Given the description of an element on the screen output the (x, y) to click on. 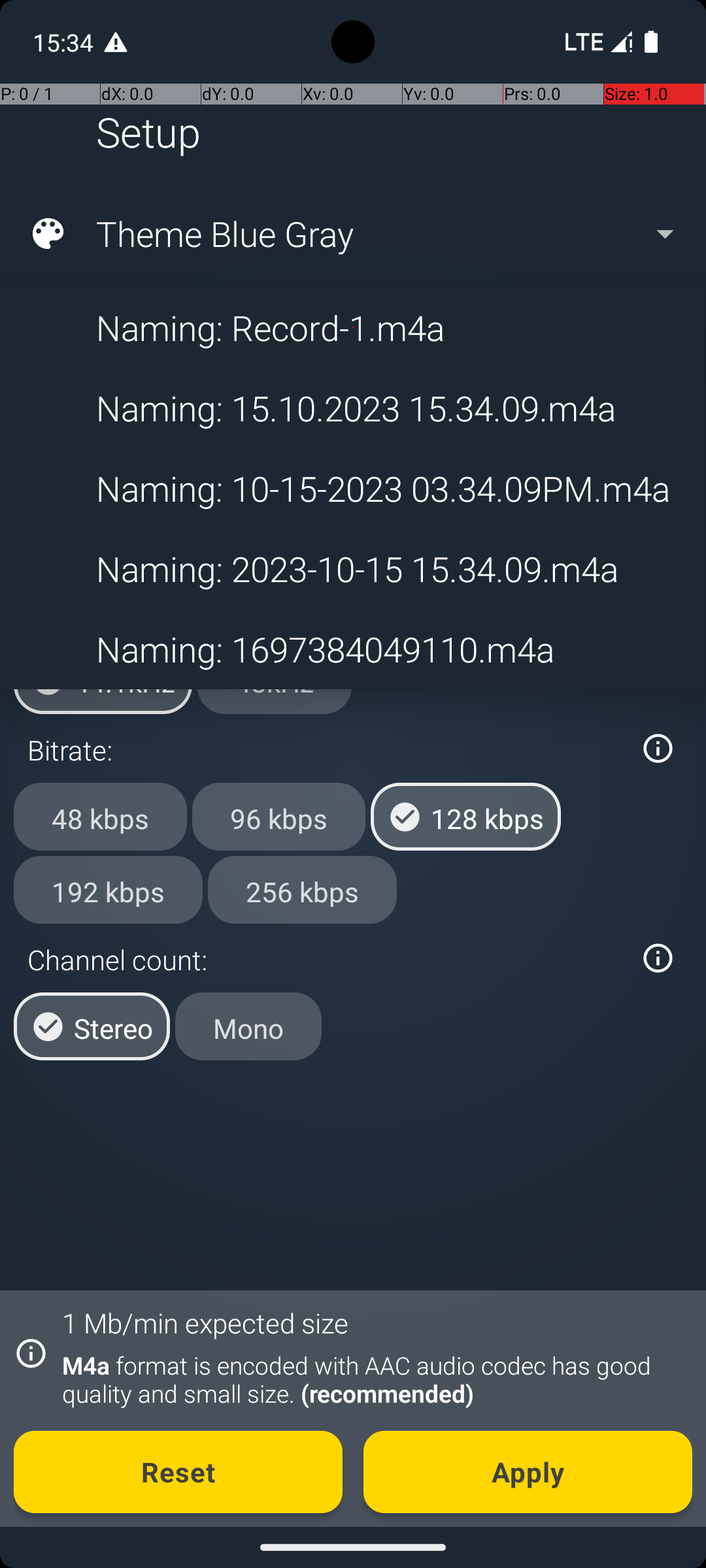
Naming: Record-1.m4a Element type: android.widget.TextView (352, 327)
Naming: 15.10.2023 15.34.09.m4a Element type: android.widget.TextView (352, 407)
Naming: 10-15-2023 03.34.09PM.m4a Element type: android.widget.TextView (352, 488)
Naming: 2023-10-15 15.34.09.m4a Element type: android.widget.TextView (352, 568)
Naming: 1697384049110.m4a Element type: android.widget.TextView (352, 648)
15:34 Element type: android.widget.TextView (64, 41)
Android System notification: Data warning Element type: android.widget.ImageView (115, 41)
Phone three bars. Element type: android.widget.FrameLayout (595, 41)
Battery 100 percent. Element type: android.widget.LinearLayout (650, 41)
No internet Element type: android.widget.ImageView (582, 41)
